Given the description of an element on the screen output the (x, y) to click on. 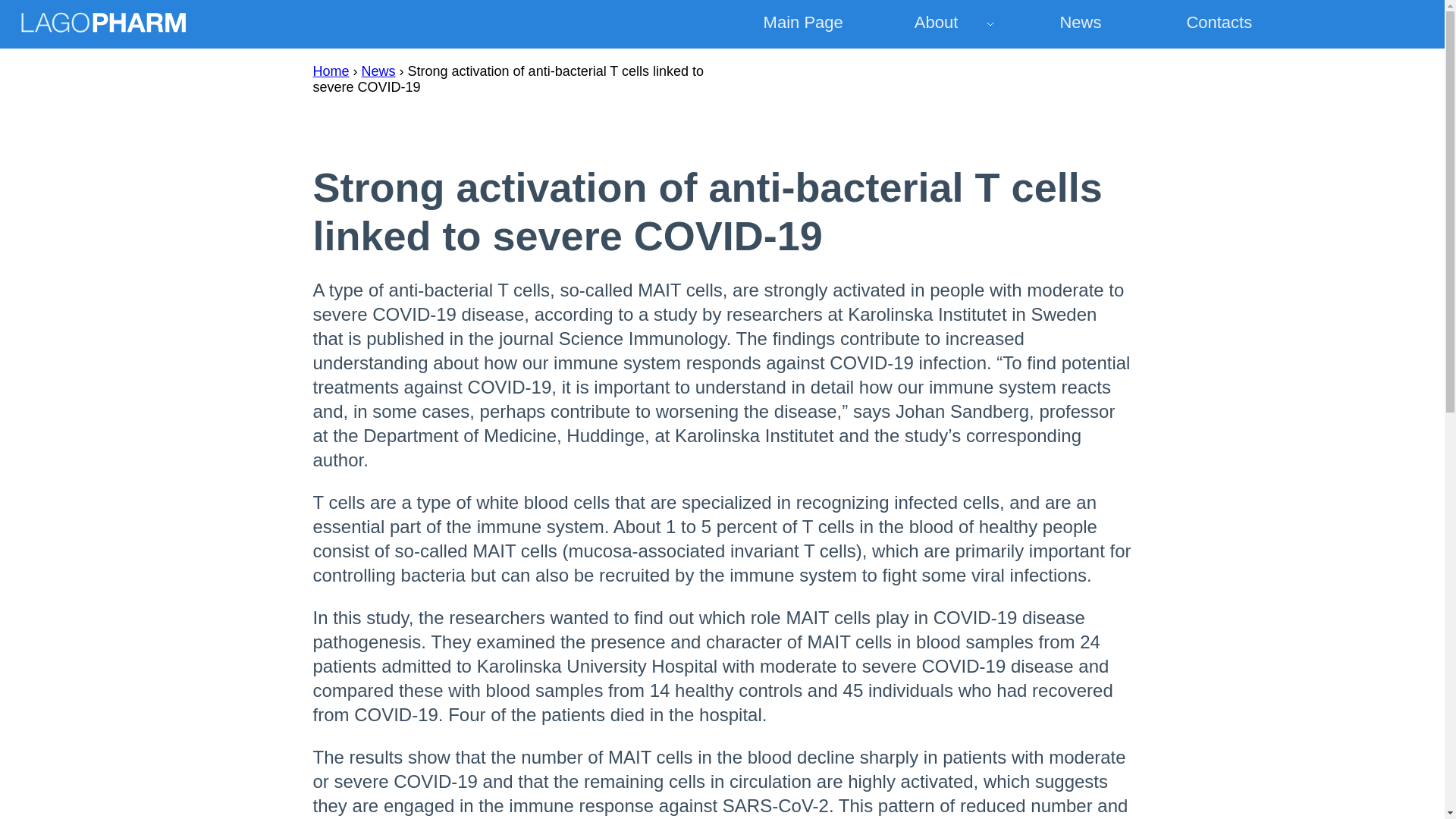
News (378, 70)
Contacts (1219, 24)
About (941, 24)
Main Page (802, 24)
News (1080, 24)
Home (331, 70)
